Given the description of an element on the screen output the (x, y) to click on. 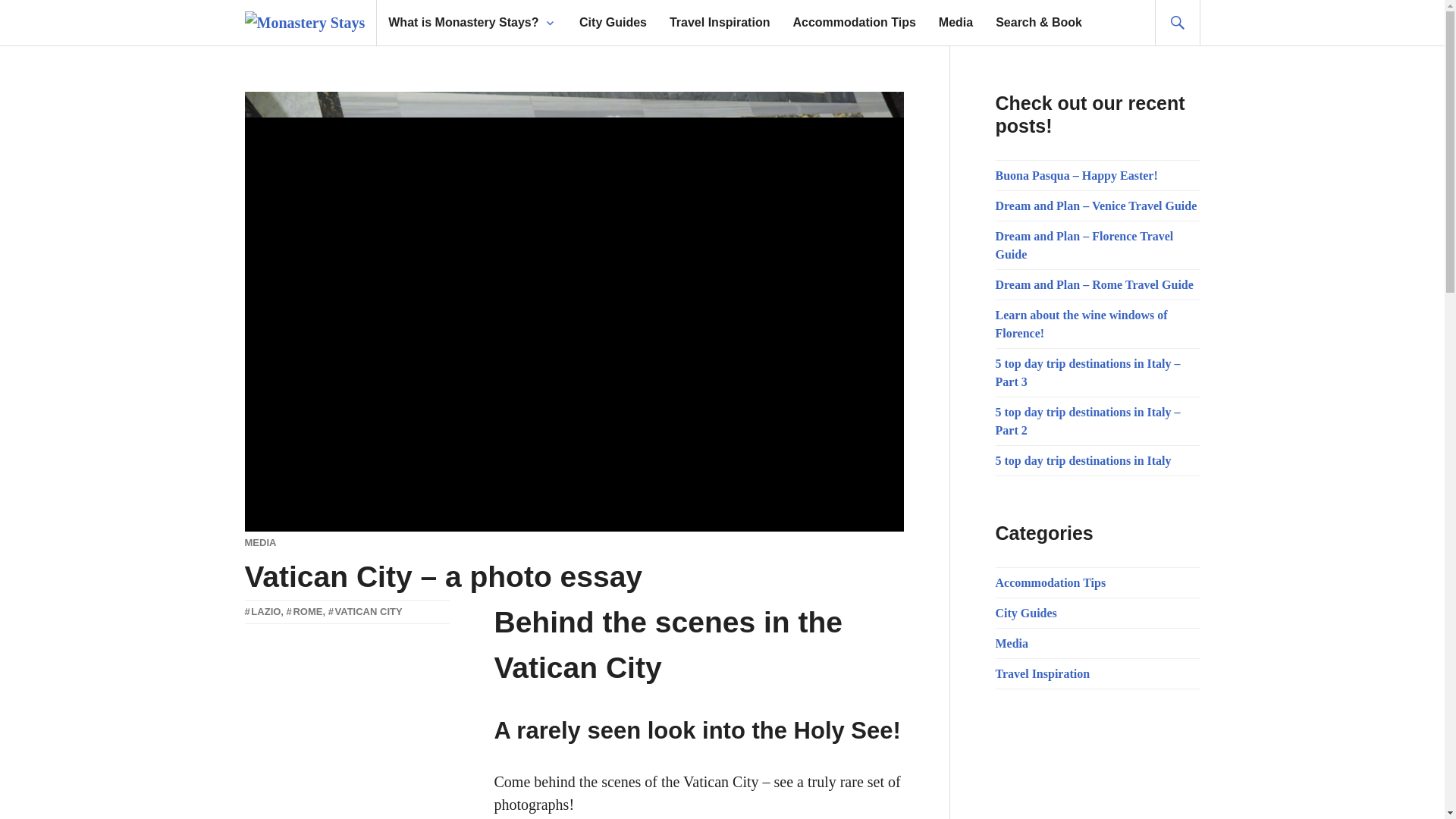
MEDIA (260, 542)
ROME (304, 611)
Accommodation Tips (1049, 582)
LAZIO (262, 611)
Travel Inspiration (719, 22)
SEARCH (1176, 22)
What is Monastery Stays? (463, 22)
Learn about the wine windows of Florence! (1080, 323)
MONASTERY STAYS (274, 619)
Accommodation Tips (853, 22)
5 top day trip destinations in Italy (1082, 459)
City Guides (1025, 612)
City Guides (612, 22)
VATICAN CITY (366, 611)
OCTOBER 10, 2016 (269, 626)
